Given the description of an element on the screen output the (x, y) to click on. 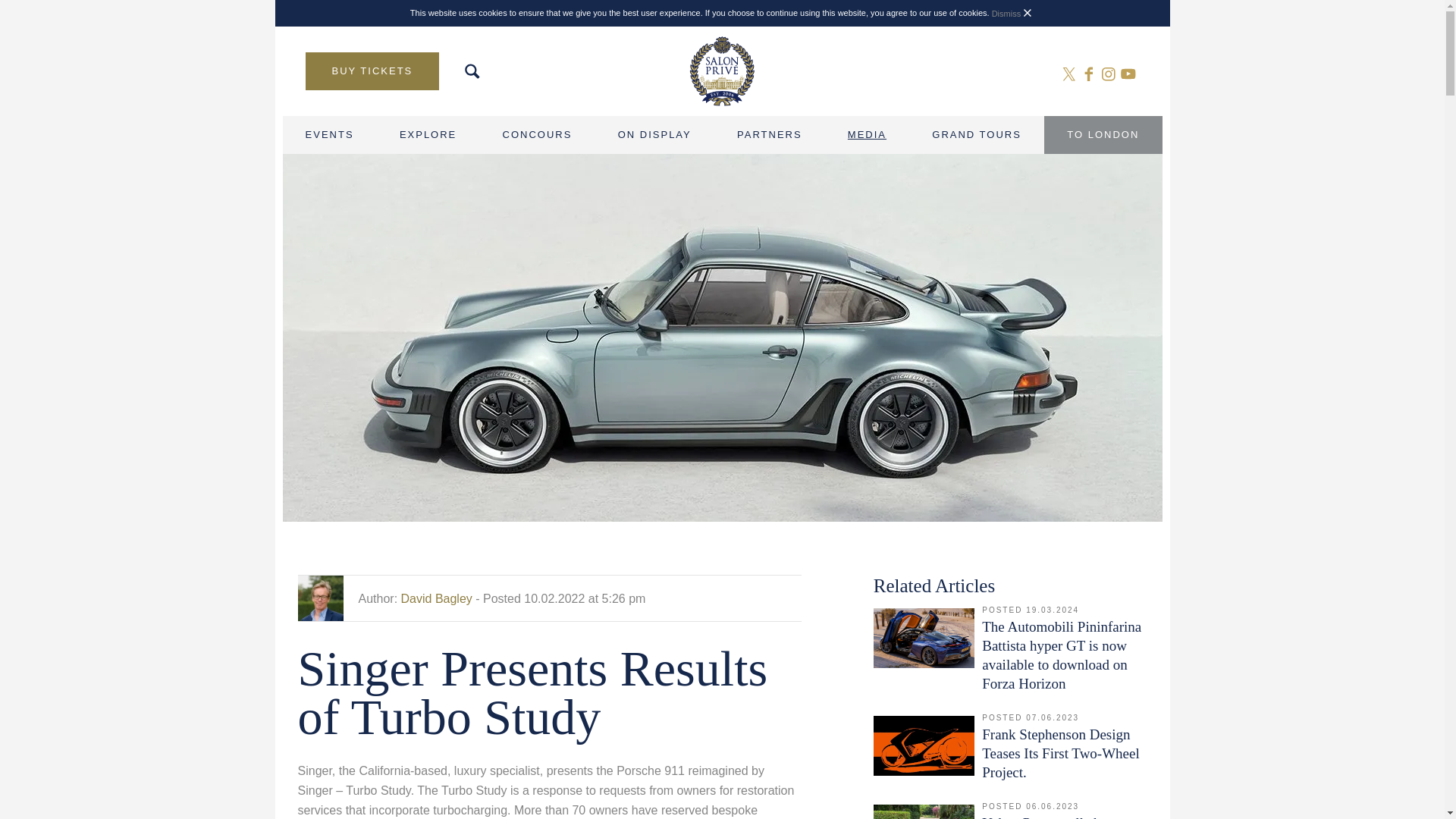
EVENTS (328, 134)
BUY TICKETS (371, 71)
EXPLORE (427, 134)
